Given the description of an element on the screen output the (x, y) to click on. 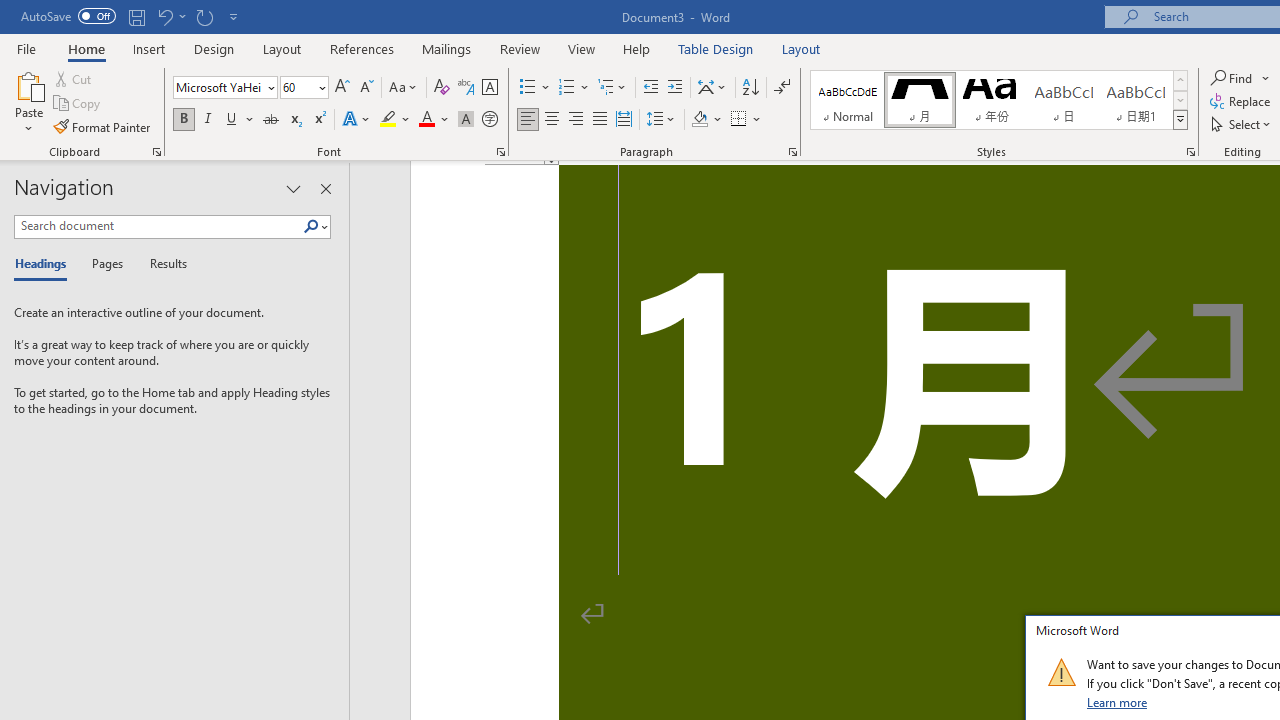
Select (1242, 124)
